Given the description of an element on the screen output the (x, y) to click on. 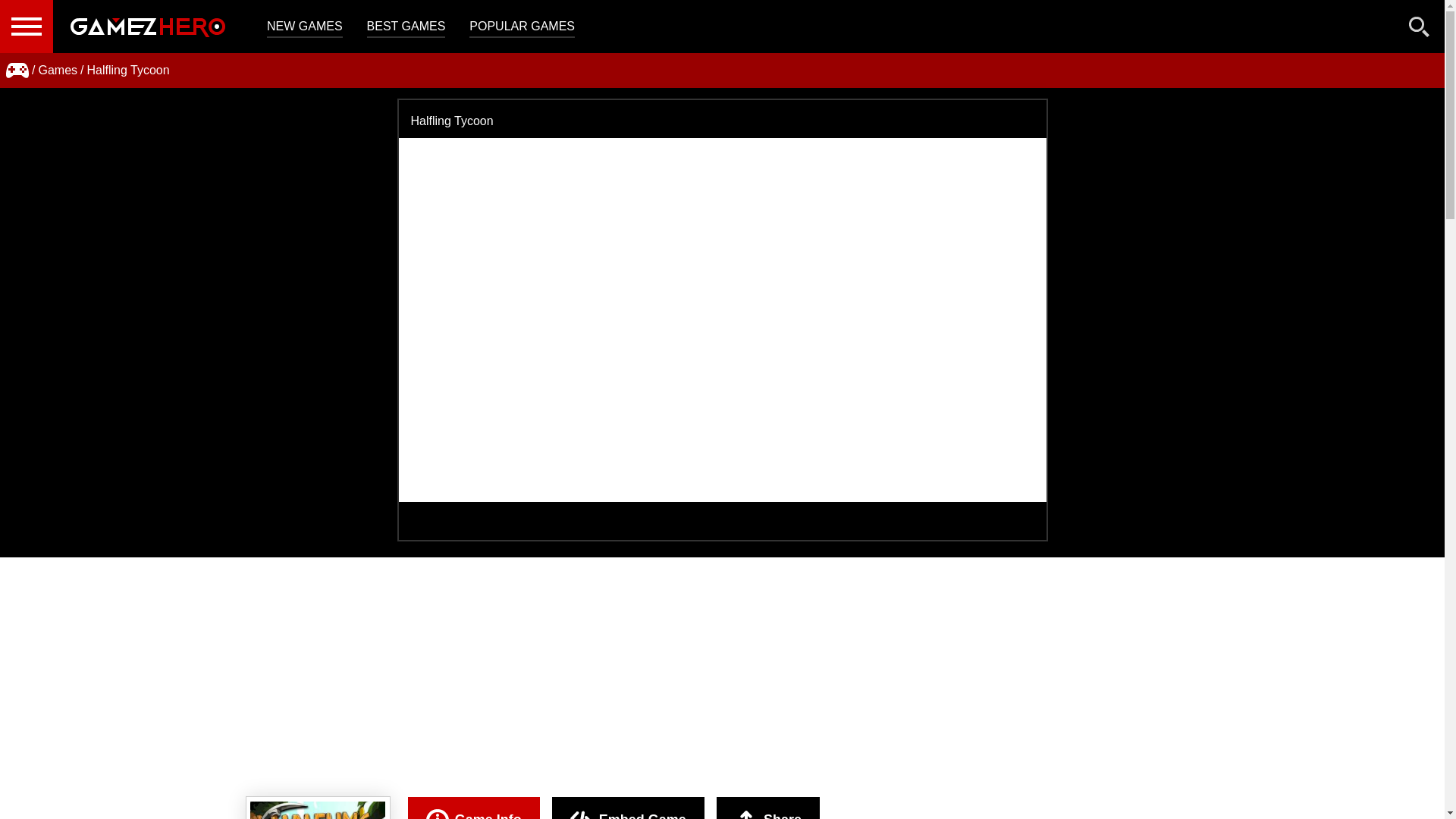
BEST GAMES (405, 27)
POPULAR GAMES (521, 27)
New Games (304, 27)
Gamezhero.com - Free Online Games. Play Free Games Online. (147, 26)
NEW GAMES (304, 27)
Popular Games (521, 27)
Best Games (405, 27)
Gamezhero.com - Free Online Games. Play Free Games Online. (147, 26)
Search Game (1419, 30)
